Given the description of an element on the screen output the (x, y) to click on. 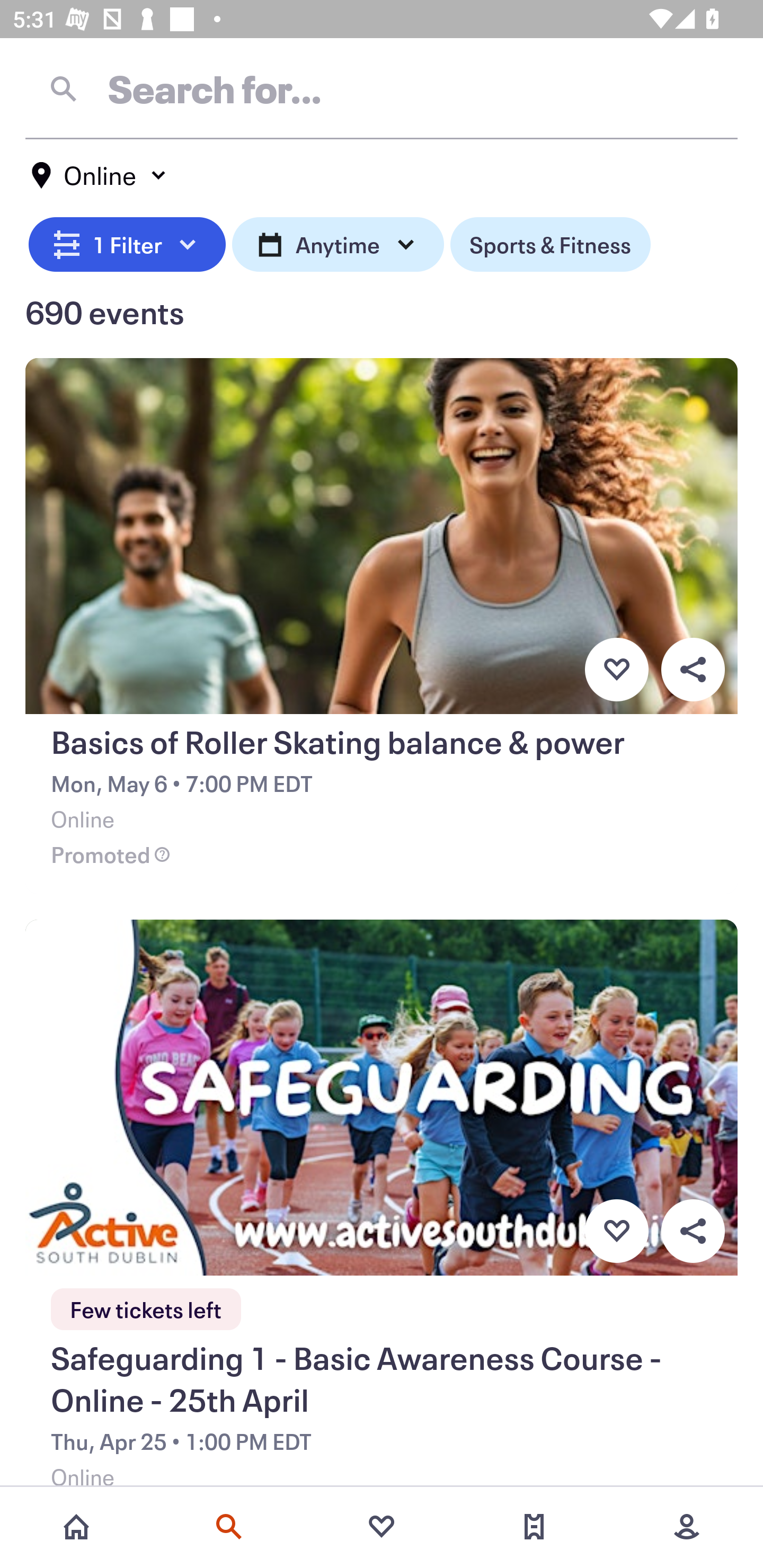
Search for… (381, 88)
Online (99, 175)
1 Filter (126, 241)
Anytime (337, 241)
Sports & Fitness (550, 241)
Favorite button (616, 669)
Overflow menu button (692, 669)
Favorite button (616, 1230)
Overflow menu button (692, 1230)
Home (76, 1526)
Search events (228, 1526)
Favorites (381, 1526)
Tickets (533, 1526)
More (686, 1526)
